Given the description of an element on the screen output the (x, y) to click on. 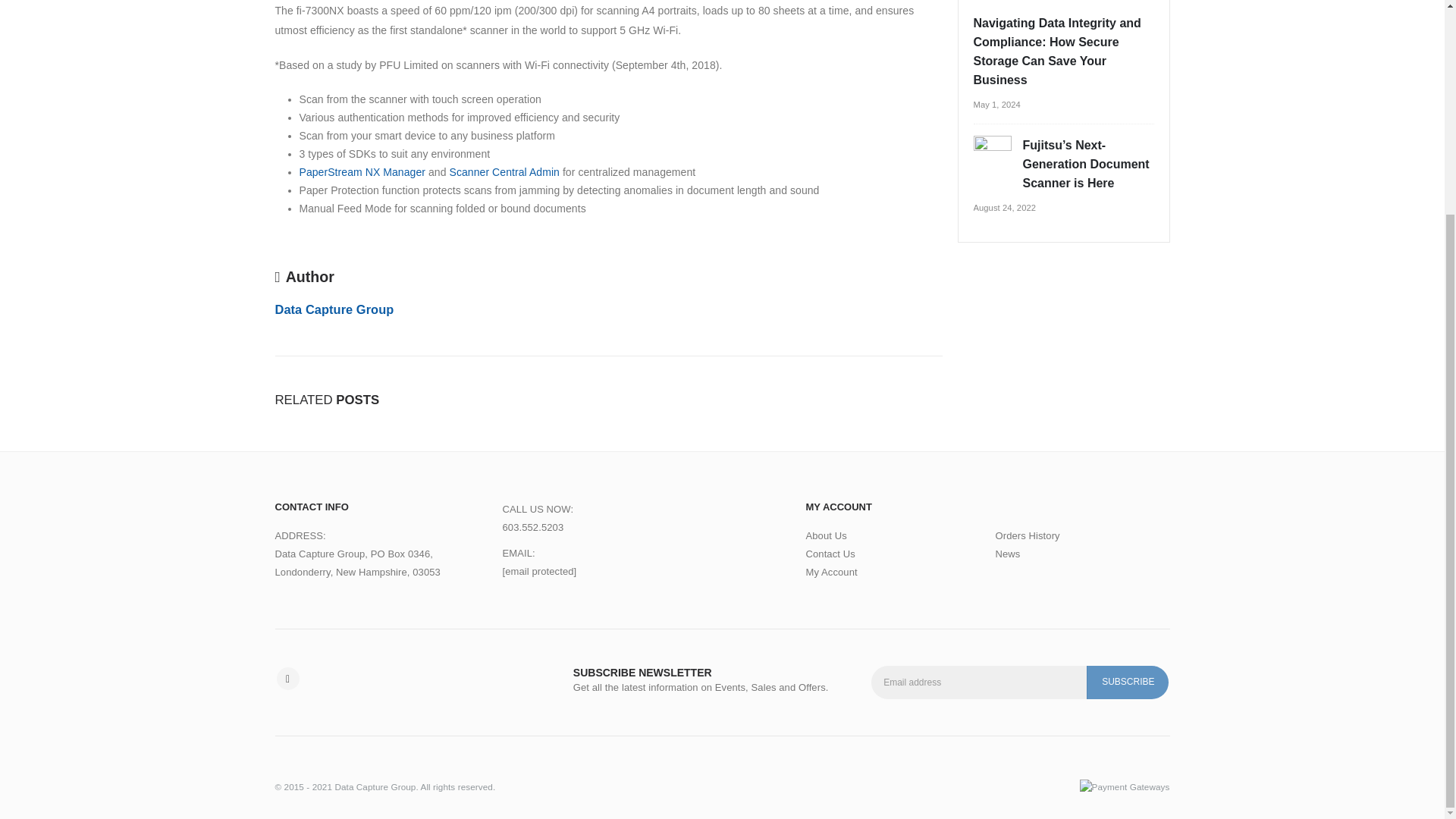
Subscribe (1127, 682)
Facebook (287, 678)
Posts by Data Capture Group (334, 309)
